Given the description of an element on the screen output the (x, y) to click on. 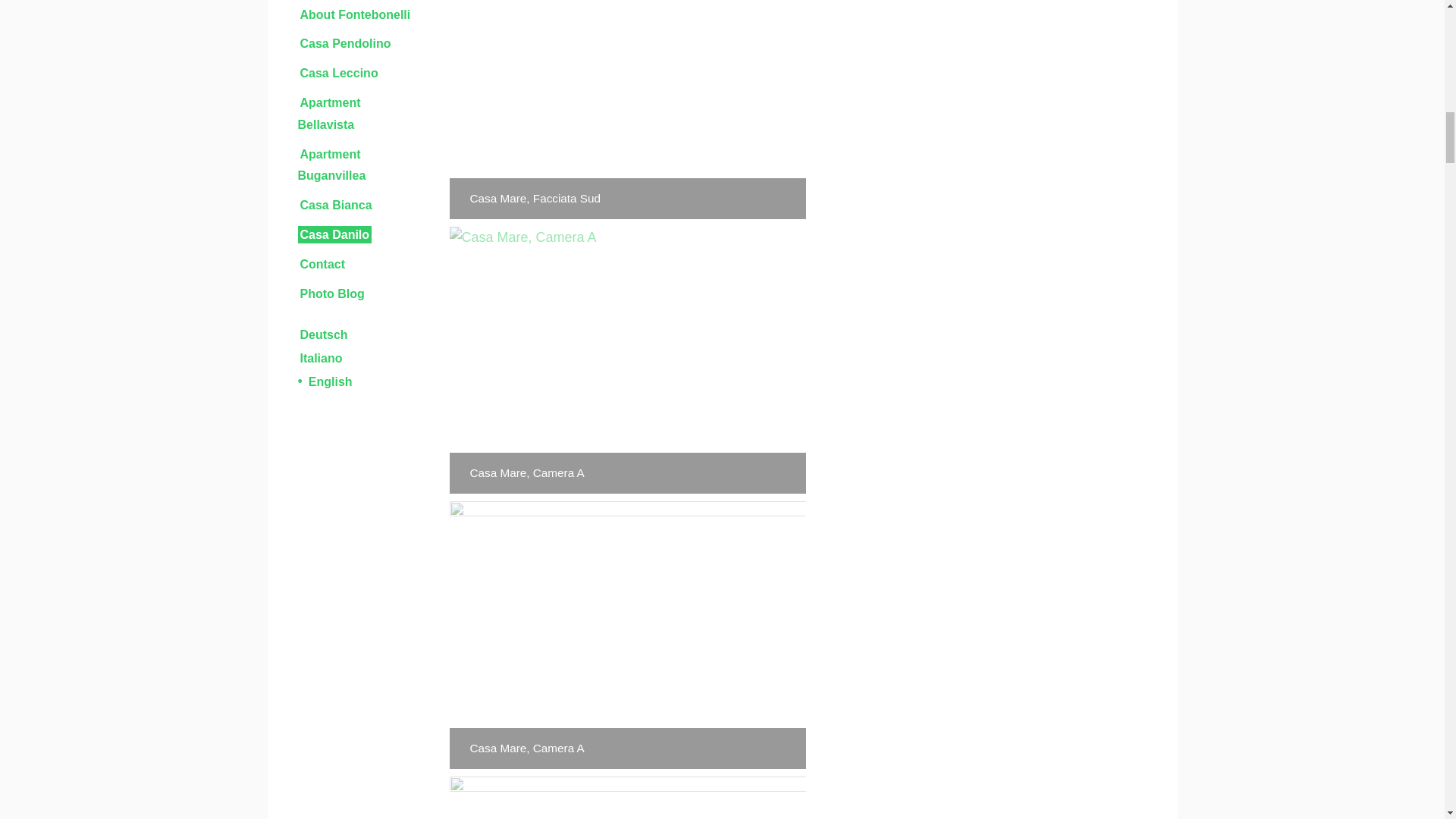
Casa Mare, Camera A (626, 360)
Casa Mare, Facciata Sud (626, 109)
Casa Mare, Camera A (626, 635)
Casa Mare, Camera A (626, 797)
Casa Mare, Camera A (626, 360)
Casa Mare, Camera A (626, 797)
Casa Mare, Facciata Sud (626, 109)
Casa Mare, Camera A (626, 635)
